Given the description of an element on the screen output the (x, y) to click on. 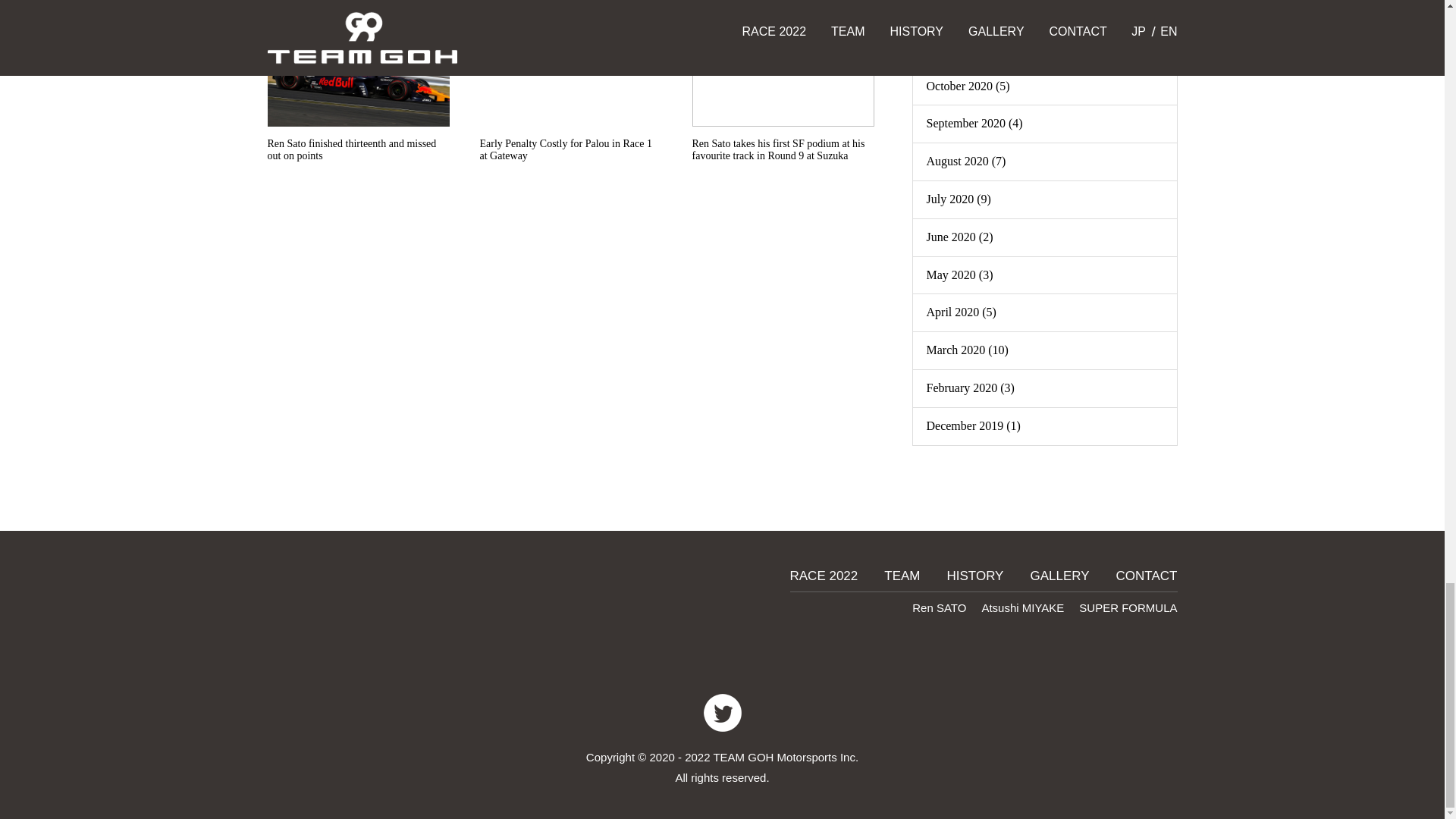
Early Penalty Costly for Palou in Race 1 at Gateway (570, 86)
Ren Sato finished thirteenth and missed out on points (357, 86)
